Given the description of an element on the screen output the (x, y) to click on. 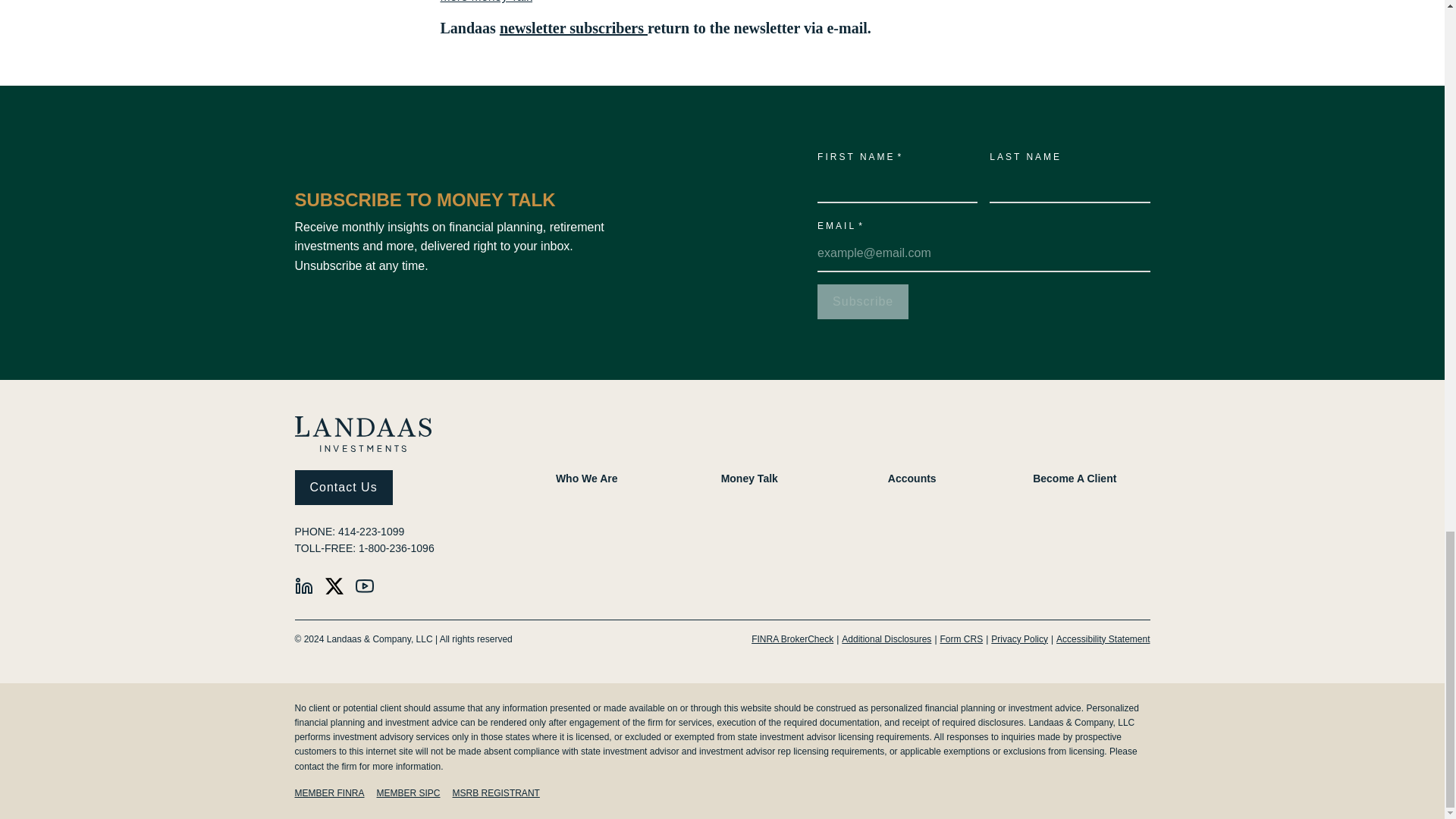
Who We Are (586, 478)
Money Talk (748, 478)
Subscribe (862, 301)
414-223-1099 (370, 531)
Become A Client (1074, 478)
1-800-236-1096 (395, 548)
More Money Talk (485, 1)
newsletter subscribers (573, 27)
Contact Us (342, 487)
FINRA BrokerCheck (791, 638)
Accounts (912, 478)
Subscribe (862, 301)
